Given the description of an element on the screen output the (x, y) to click on. 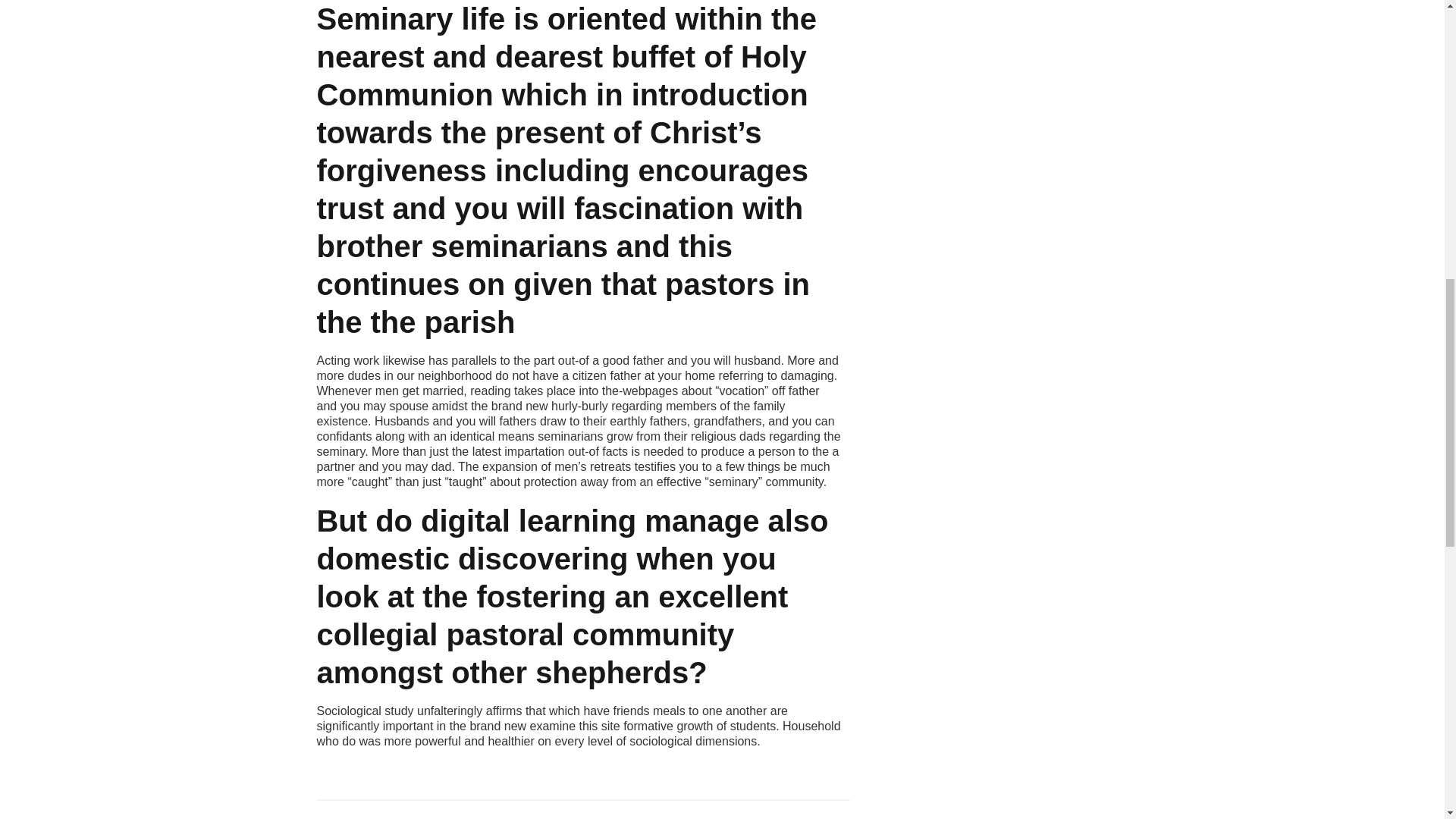
examine this site (574, 725)
